Given the description of an element on the screen output the (x, y) to click on. 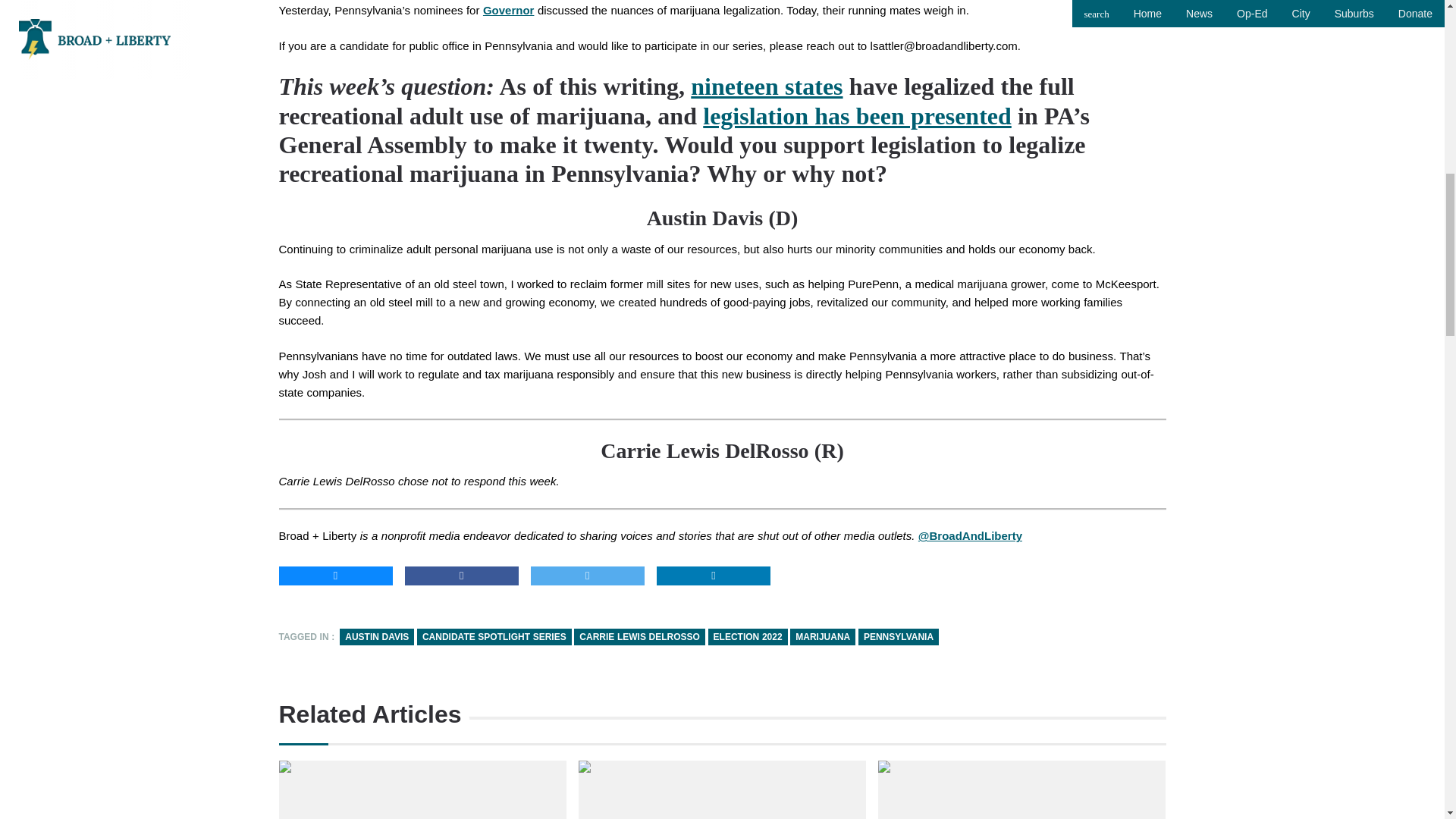
nineteen states (766, 85)
legislation has been presented (857, 115)
CANDIDATE SPOTLIGHT SERIES (494, 636)
CARRIE LEWIS DELROSSO (638, 636)
MARIJUANA (823, 636)
AUSTIN DAVIS (376, 636)
PENNSYLVANIA (899, 636)
Governor (508, 10)
ELECTION 2022 (747, 636)
